Given the description of an element on the screen output the (x, y) to click on. 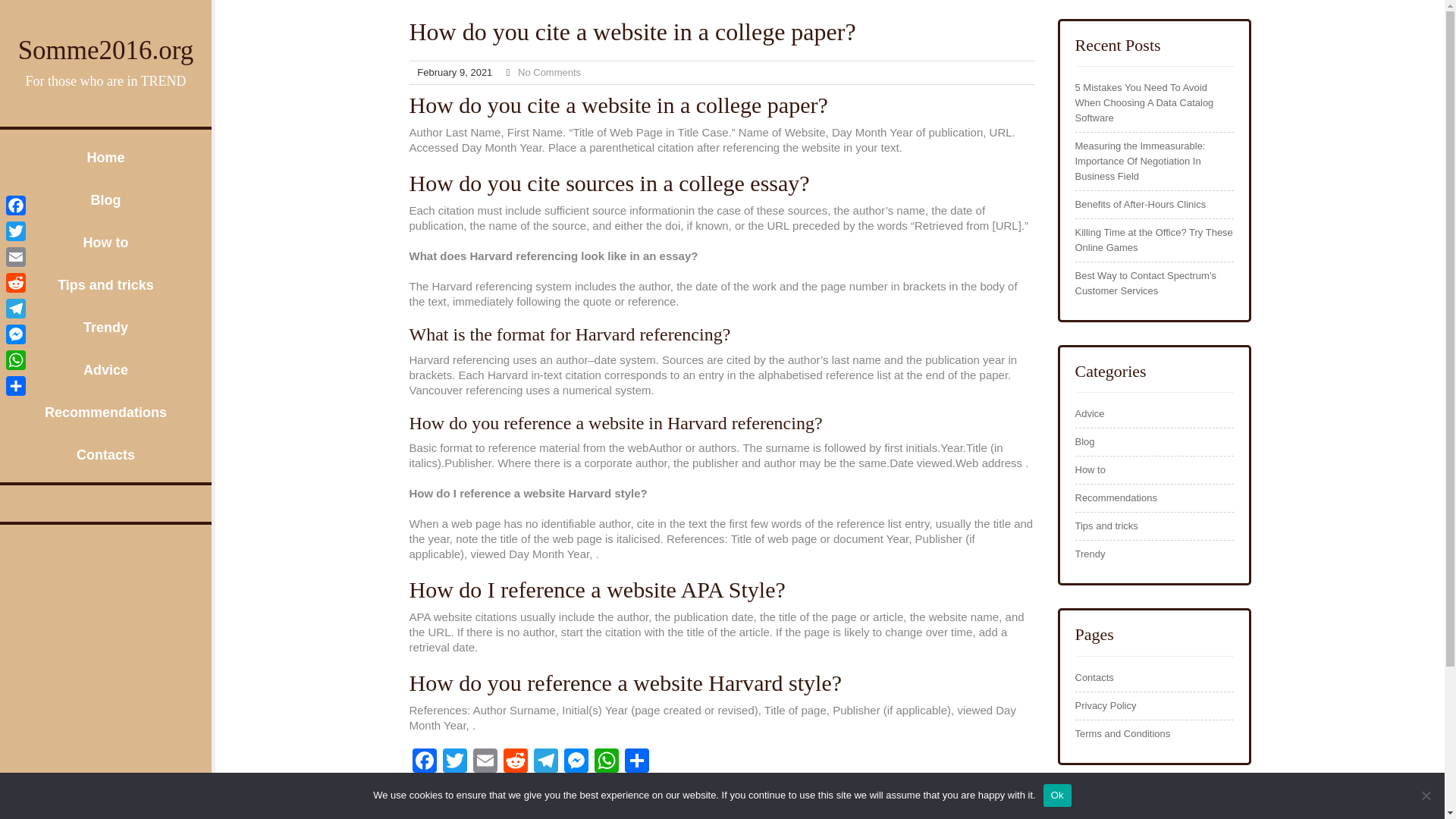
Contacts (1094, 677)
Facebook (424, 762)
How to (1090, 469)
Messenger (575, 762)
Recommendations (1116, 498)
Tips and tricks (1106, 525)
Messenger (15, 334)
Telegram (545, 762)
Share (636, 762)
No Comments (549, 71)
Tips and tricks (105, 284)
Facebook (424, 762)
Twitter (454, 762)
Email (485, 762)
How do you write a debate? (972, 795)
